Given the description of an element on the screen output the (x, y) to click on. 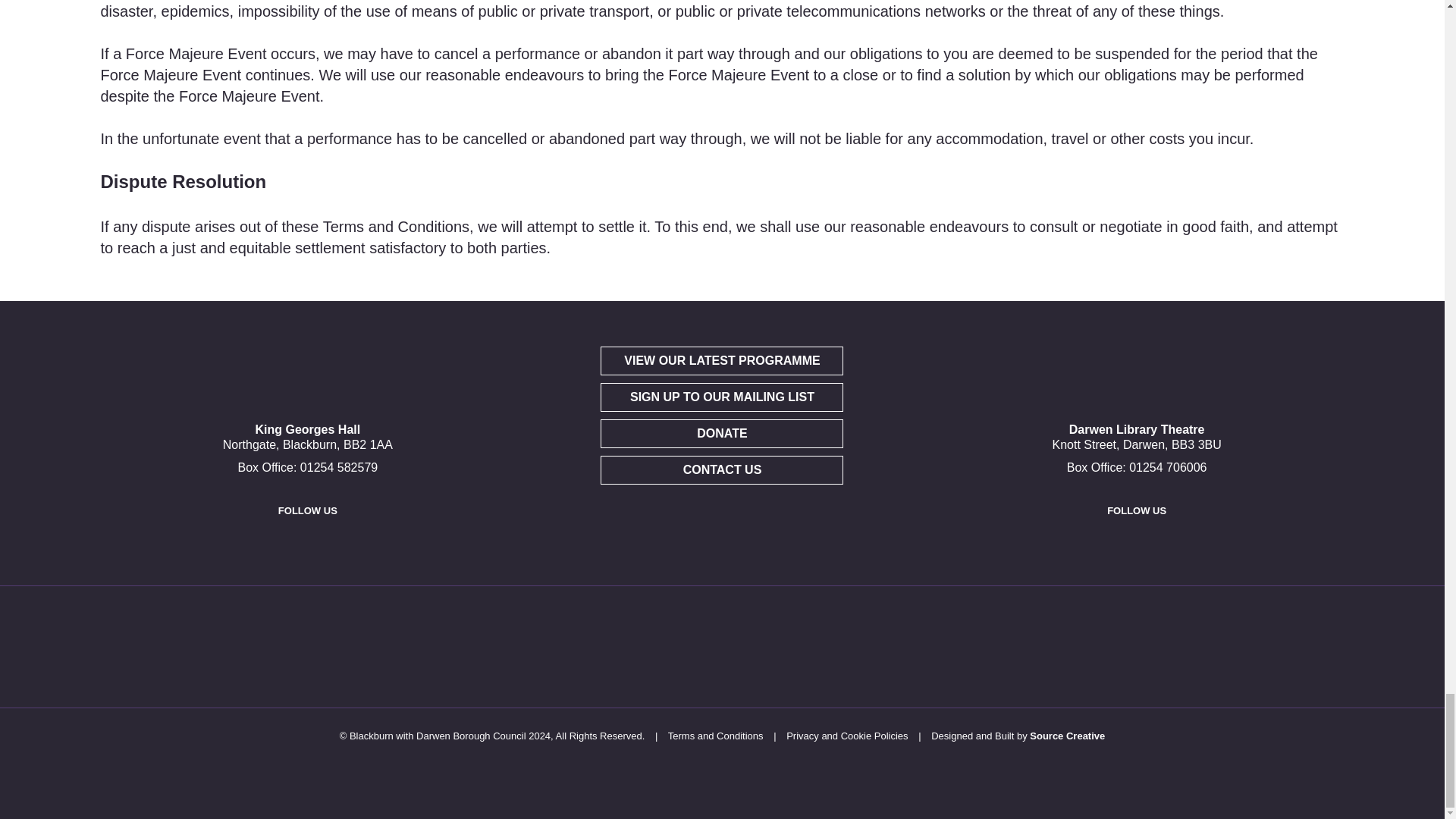
Twitter (286, 542)
Terms and Conditions (715, 736)
Twitter (1132, 542)
Family Arts Standards (457, 646)
Instagram (355, 542)
Good to go England (761, 646)
Blackburn with Darwen Borough Council (356, 646)
Privacy and Cookie Policies (846, 736)
Facebook (1098, 542)
Source Creative (1067, 736)
Visit Lancashire (660, 646)
Facebook (251, 542)
YouTube (320, 542)
Lancashire Tourism Awards 2023 - Cultural Venue Finalist (964, 646)
VIEW OUR LATEST PROGRAMME (721, 360)
